Given the description of an element on the screen output the (x, y) to click on. 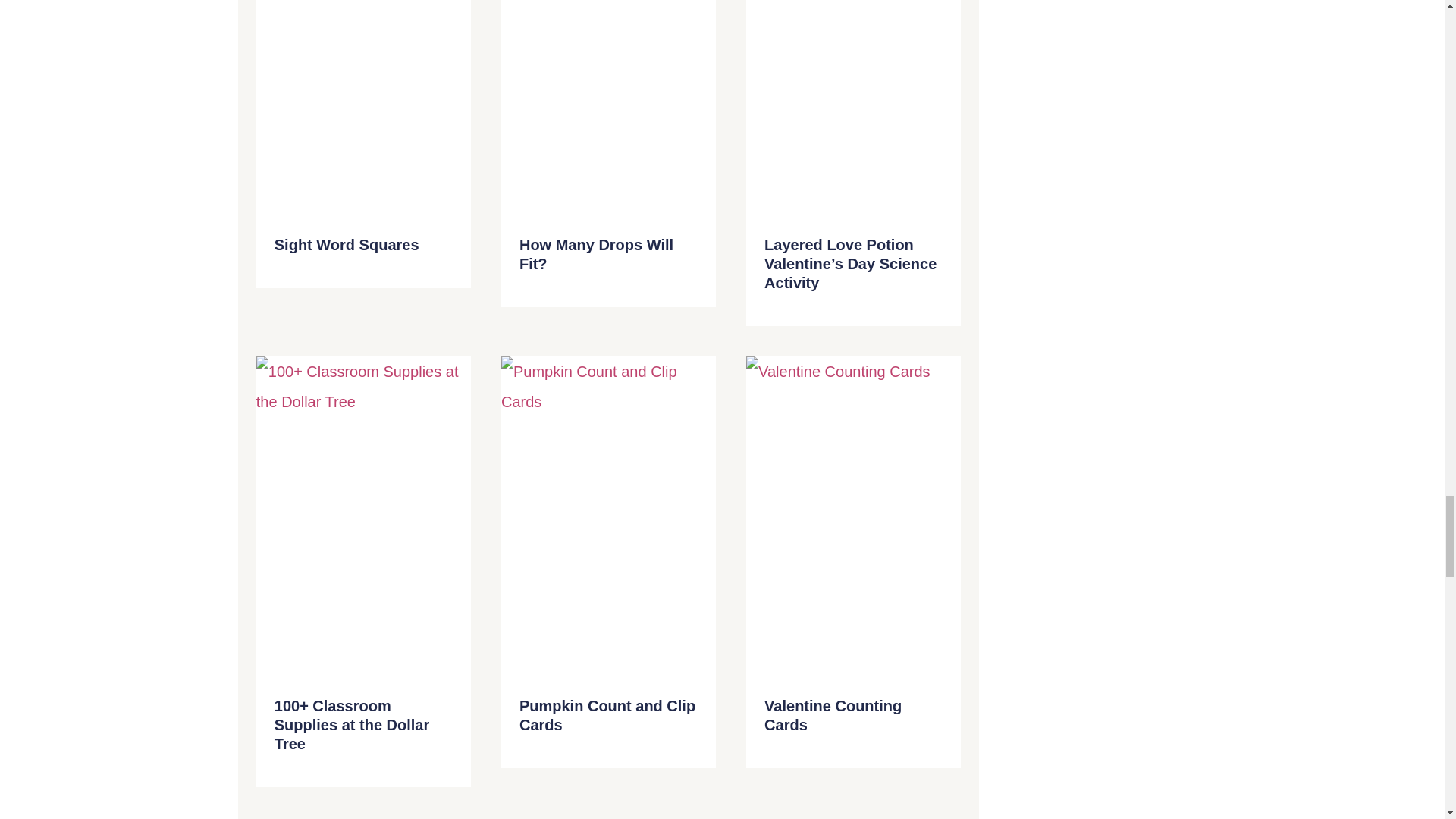
Pumpkin Count and Clip Cards (607, 715)
How Many Drops Will Fit? (595, 253)
Valentine Counting Cards (832, 715)
Sight Word Squares (347, 244)
